Given the description of an element on the screen output the (x, y) to click on. 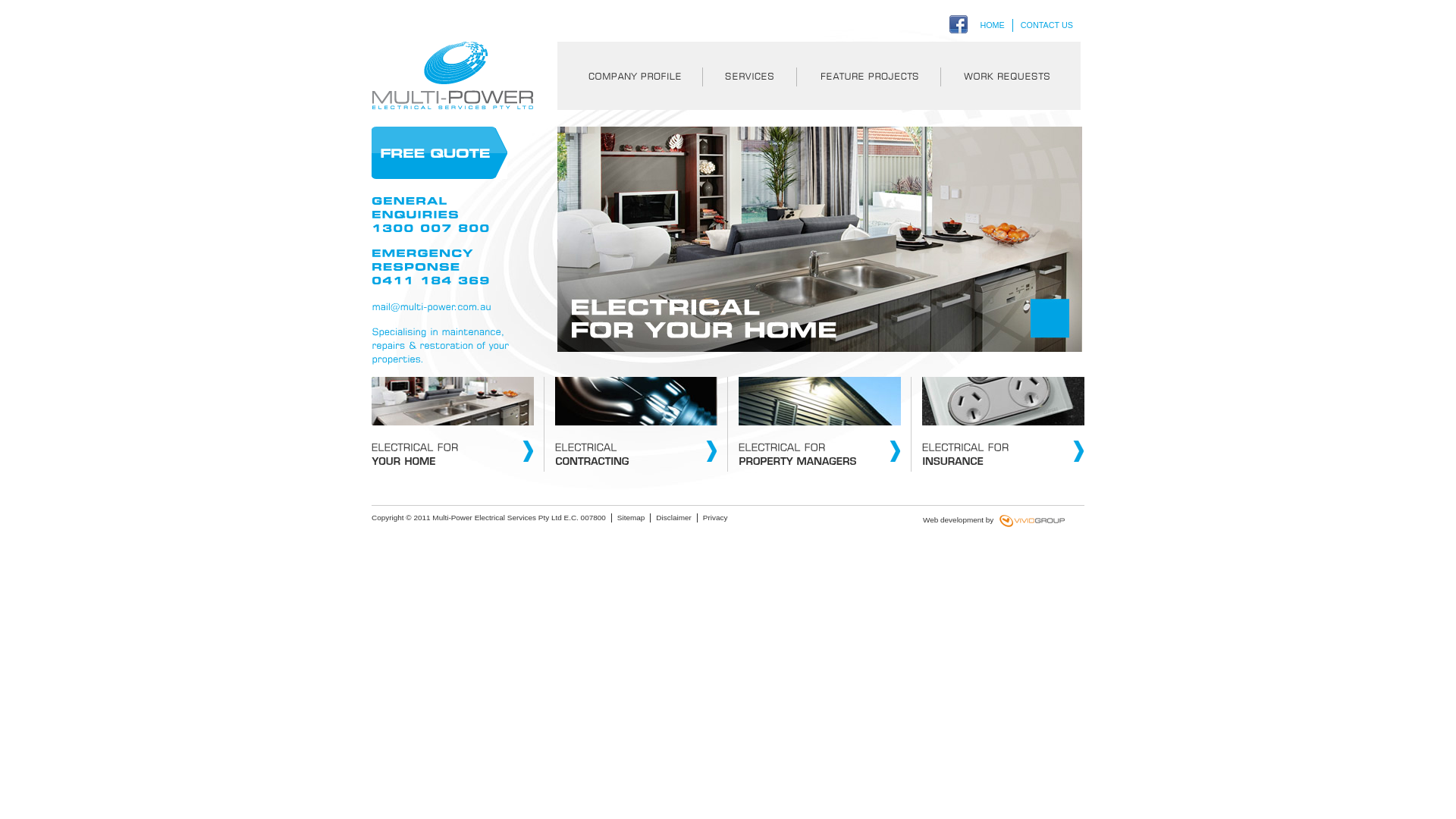
HOME Element type: text (991, 24)
Feature Projects Element type: text (868, 75)
Company Profile Element type: text (629, 75)
CONTACT US Element type: text (1046, 24)
Sitemap Element type: text (631, 517)
Disclaimer Element type: text (672, 517)
Services Element type: text (749, 75)
Work Request Element type: text (1010, 75)
Web development by   Element type: text (965, 520)
Privacy Element type: text (715, 517)
